Given the description of an element on the screen output the (x, y) to click on. 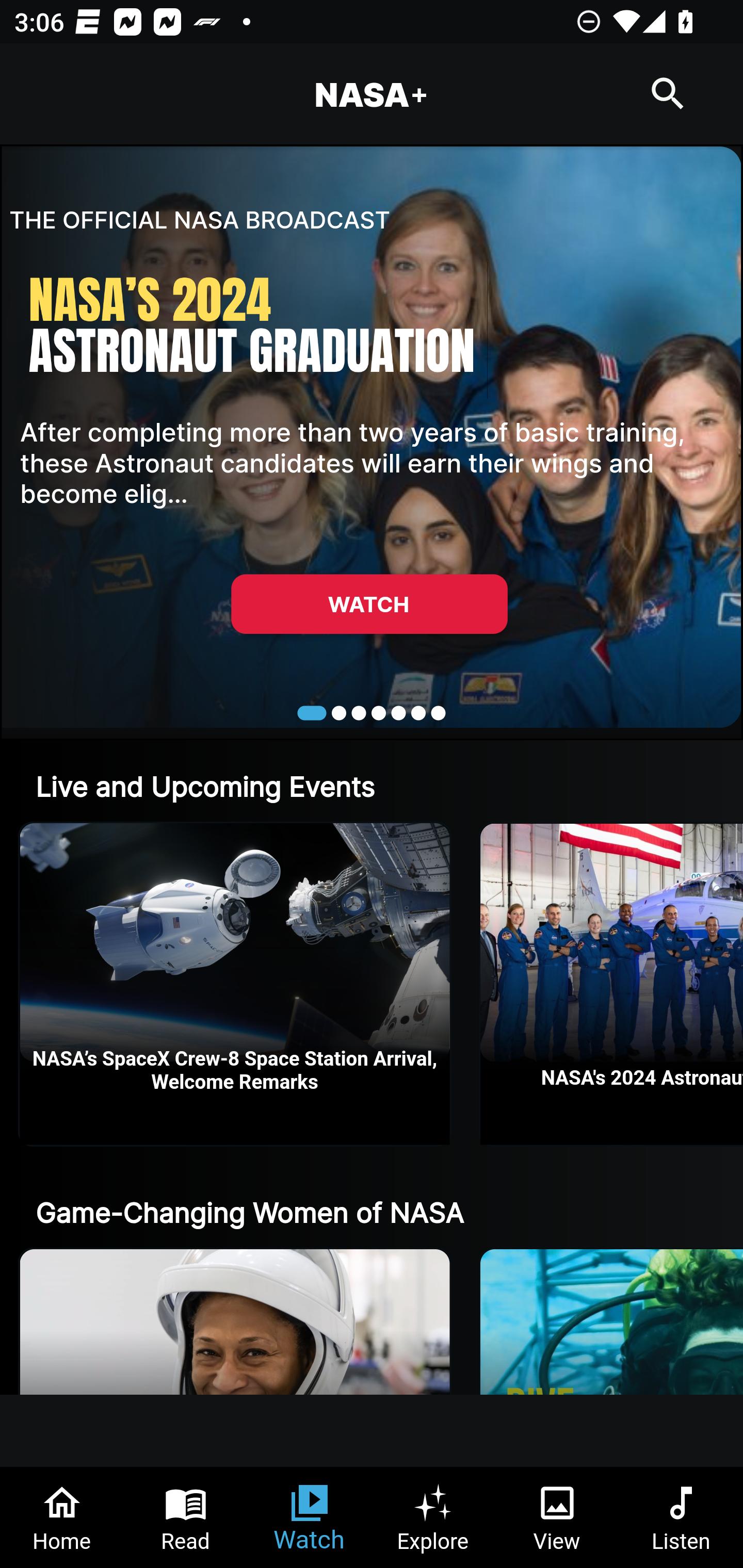
WATCH (369, 603)
NASA's 2024 Astronaut Graduation (611, 983)
Home
Tab 1 of 6 (62, 1517)
Read
Tab 2 of 6 (185, 1517)
Watch
Tab 3 of 6 (309, 1517)
Explore
Tab 4 of 6 (433, 1517)
View
Tab 5 of 6 (556, 1517)
Listen
Tab 6 of 6 (680, 1517)
